Given the description of an element on the screen output the (x, y) to click on. 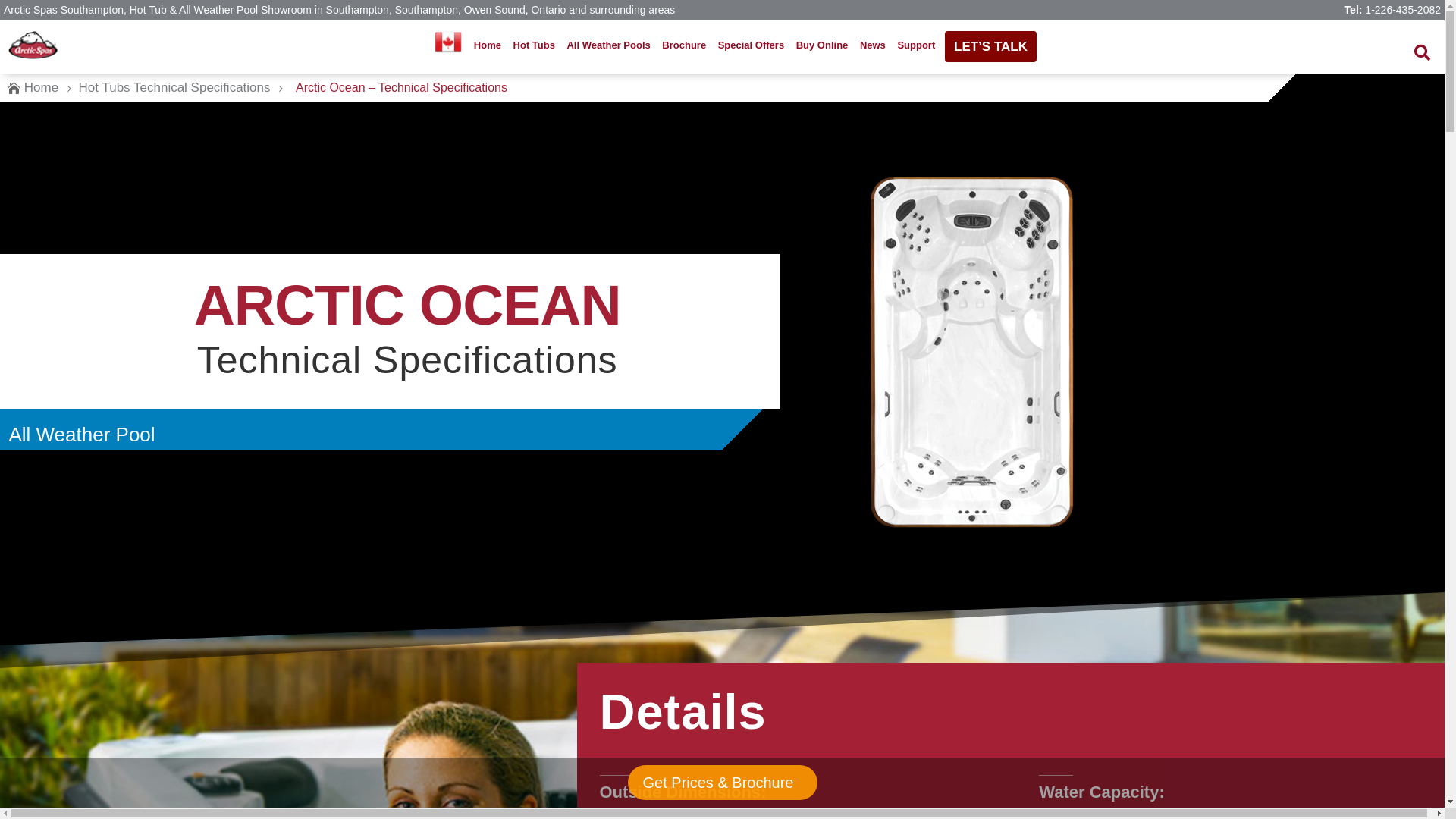
Buy Online Element type: text (821, 45)
Choose Your Location Element type: hover (447, 41)
Hot Tubs Technical Specifications Element type: text (174, 87)
Home Element type: text (41, 87)
All Weather Pools Element type: text (608, 45)
Home Element type: text (487, 45)
News Element type: text (872, 45)
Get Prices & Brochure Element type: text (721, 782)
Top view of the Athabascan All Weather Pool model Element type: hover (971, 351)
1-226-435-2082 Element type: text (1402, 9)
Brochure Element type: text (683, 45)
Support Element type: text (915, 45)
Hot Tubs Element type: text (533, 45)
Choose Your Location Element type: hover (447, 45)
Special Offers Element type: text (751, 45)
